Given the description of an element on the screen output the (x, y) to click on. 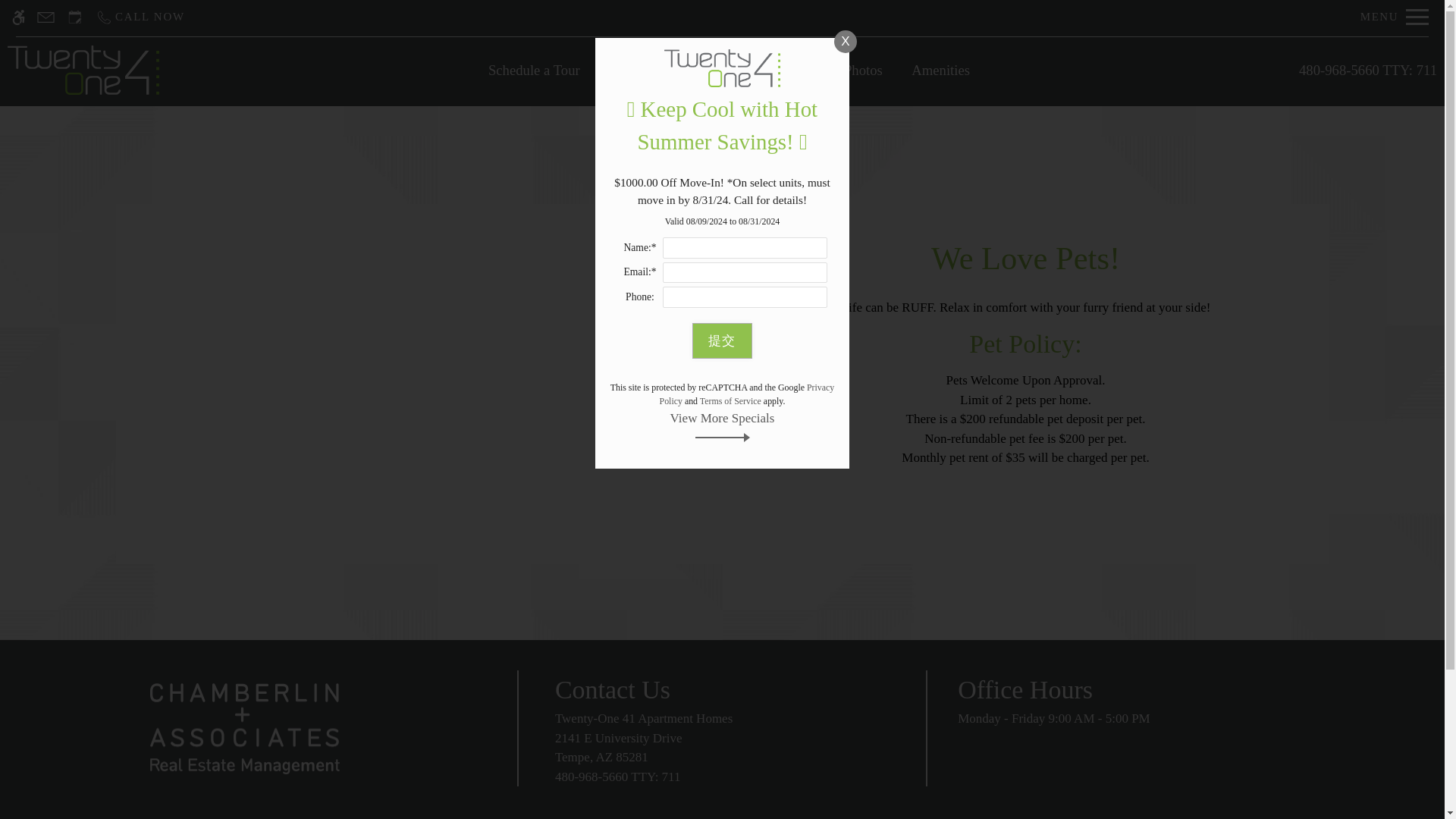
Amenities (940, 70)
Open Full Menu (1394, 17)
Specials (696, 70)
Request an appointment (74, 17)
Call us (140, 17)
Floor Plans (782, 70)
480-968-5660 TTY: 711 (1367, 69)
Accessible screen reader (18, 17)
MENU (721, 755)
